Given the description of an element on the screen output the (x, y) to click on. 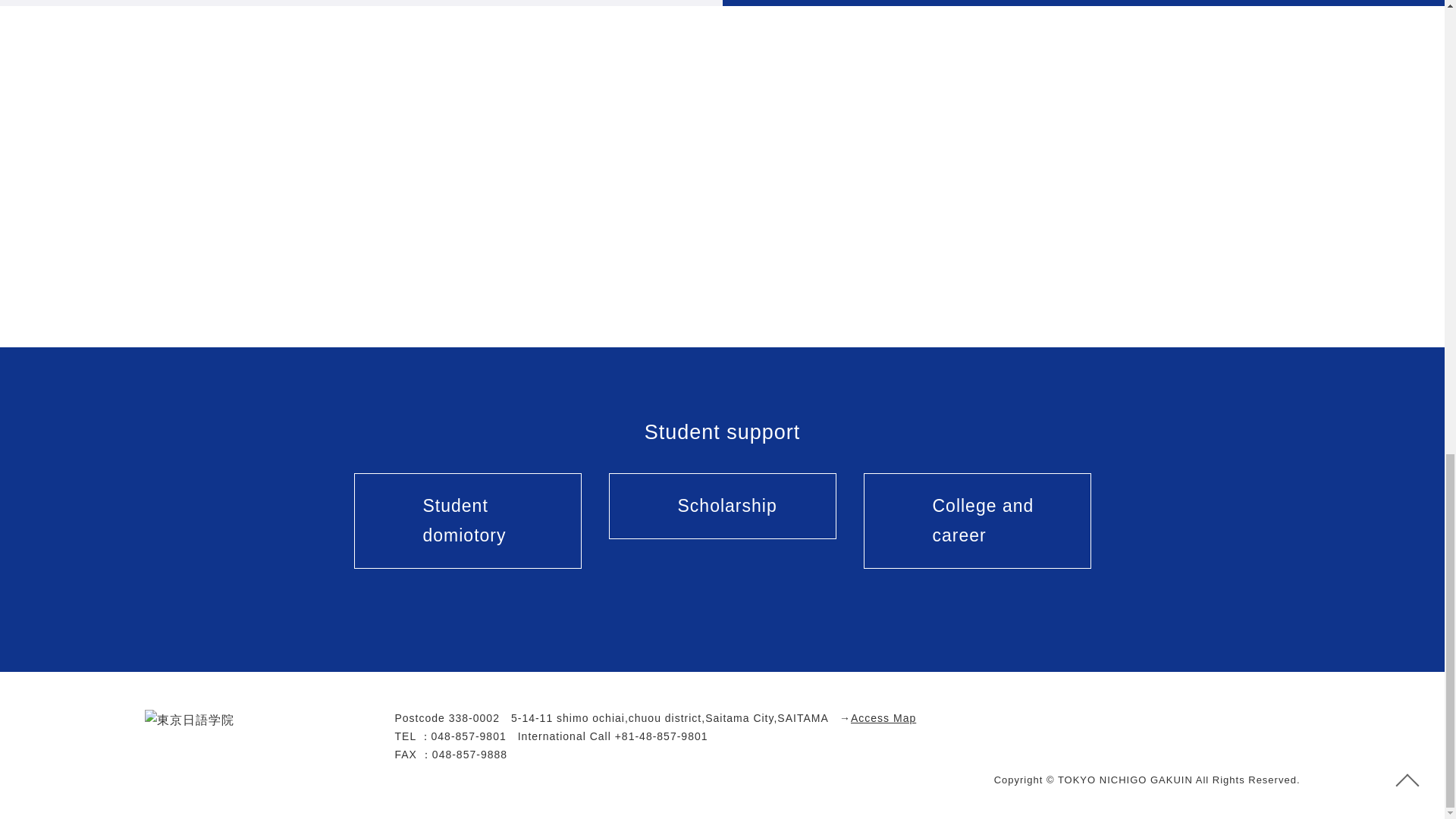
Student domiotory (466, 520)
College and career (976, 520)
Access Map (882, 717)
048-857-9801 (468, 736)
Scholarship (721, 505)
